Given the description of an element on the screen output the (x, y) to click on. 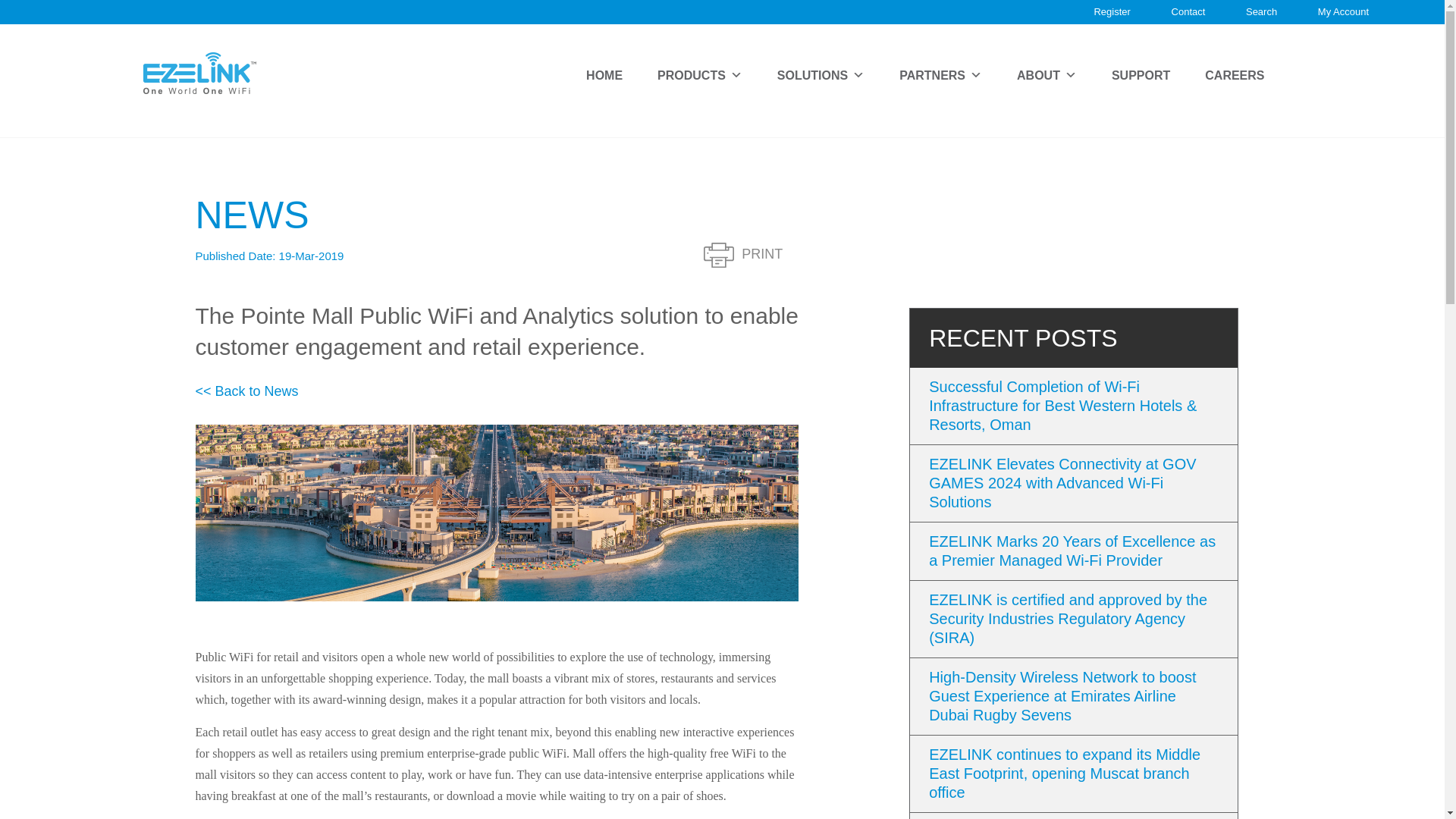
Search (1261, 11)
My Account (1342, 11)
SOLUTIONS (820, 75)
Contact (1188, 11)
Register (1111, 11)
PRODUCTS (700, 75)
